Given the description of an element on the screen output the (x, y) to click on. 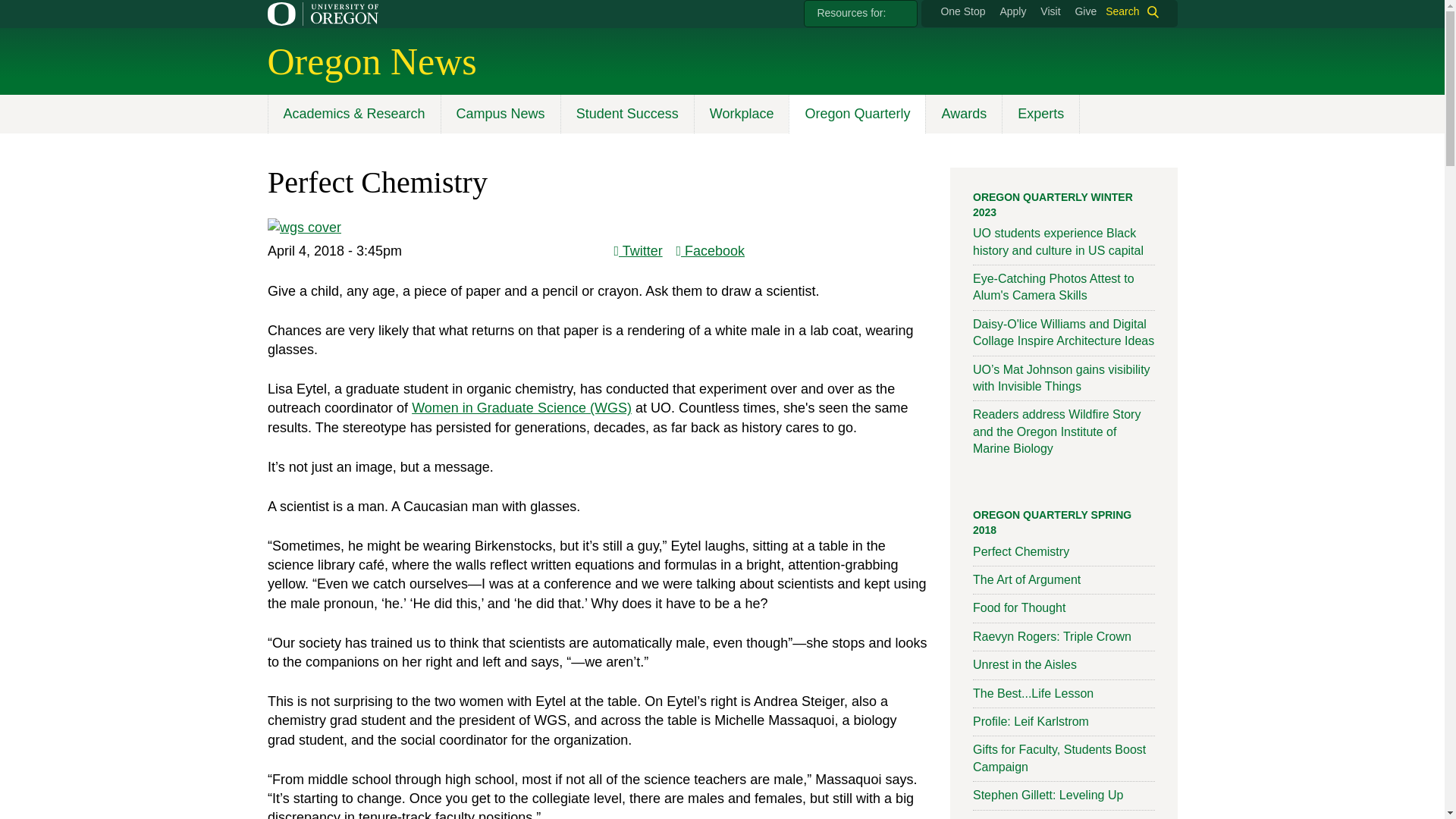
Search (1131, 11)
Photograph by Charlie Litchfield, University Communications (303, 227)
Visit (1050, 10)
Give (1085, 10)
Oregon NewsHome (371, 61)
Apply (1012, 10)
One Stop (962, 10)
Resources for: (860, 13)
